Given the description of an element on the screen output the (x, y) to click on. 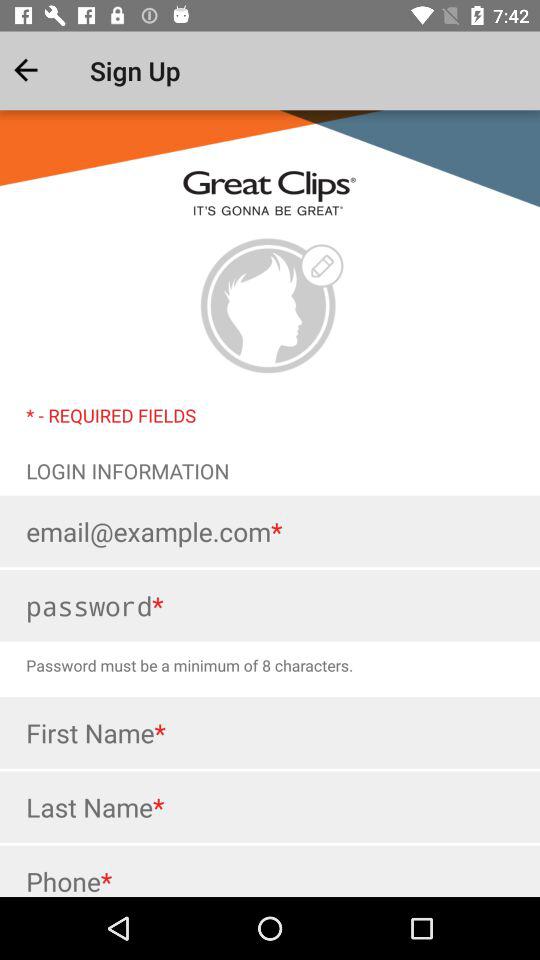
the logo of the company (269, 305)
